Given the description of an element on the screen output the (x, y) to click on. 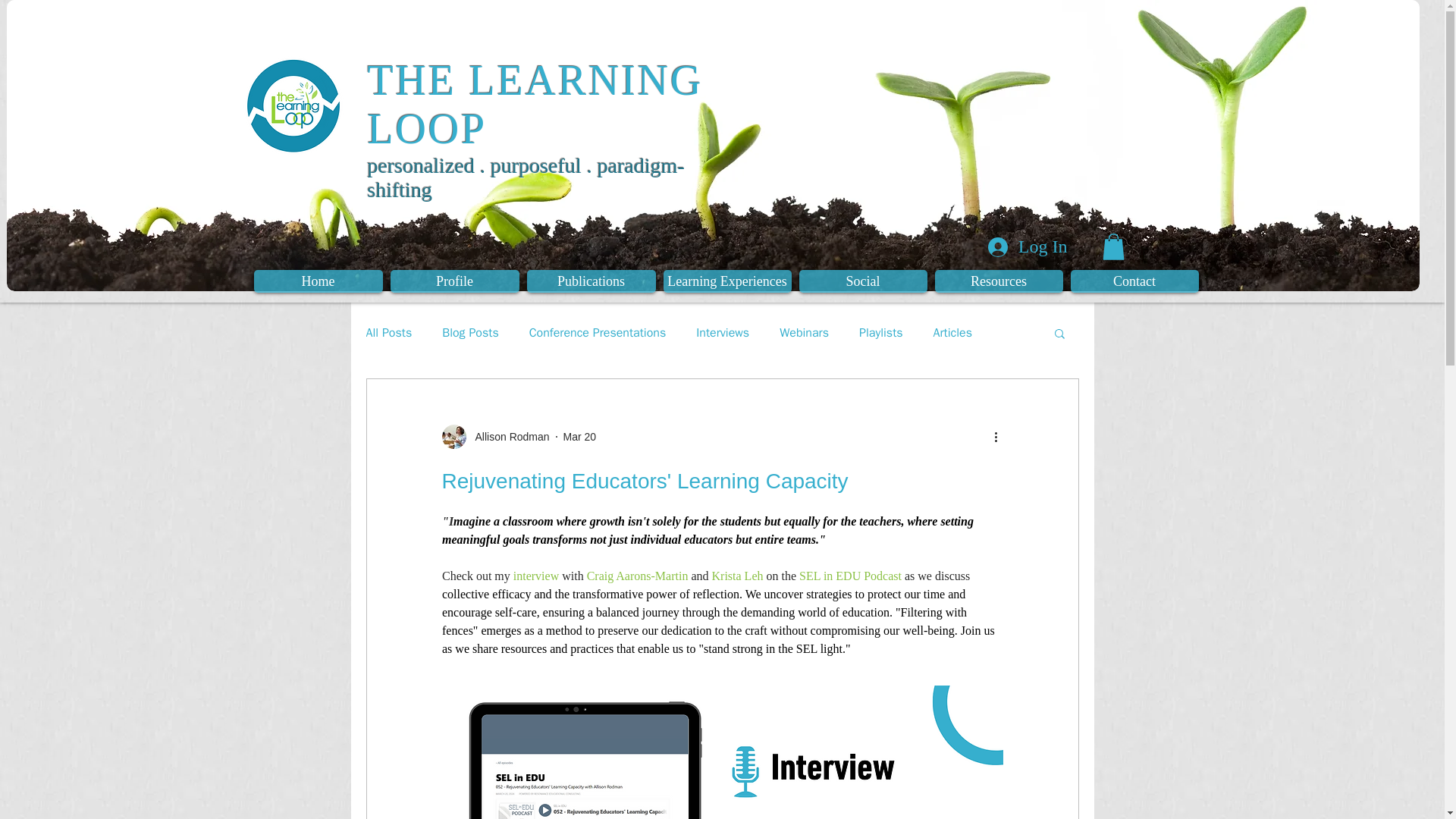
Profile (454, 281)
Social (863, 281)
Publications (590, 281)
Interviews (722, 333)
Allison Rodman (506, 437)
Resources (998, 281)
Blog Posts (469, 333)
THE LEA (461, 80)
Playlists (880, 333)
Log In (1027, 247)
Mar 20 (579, 436)
Home (317, 281)
RNING LOOP (534, 104)
Contact (1134, 281)
Allison Rodman (494, 436)
